Given the description of an element on the screen output the (x, y) to click on. 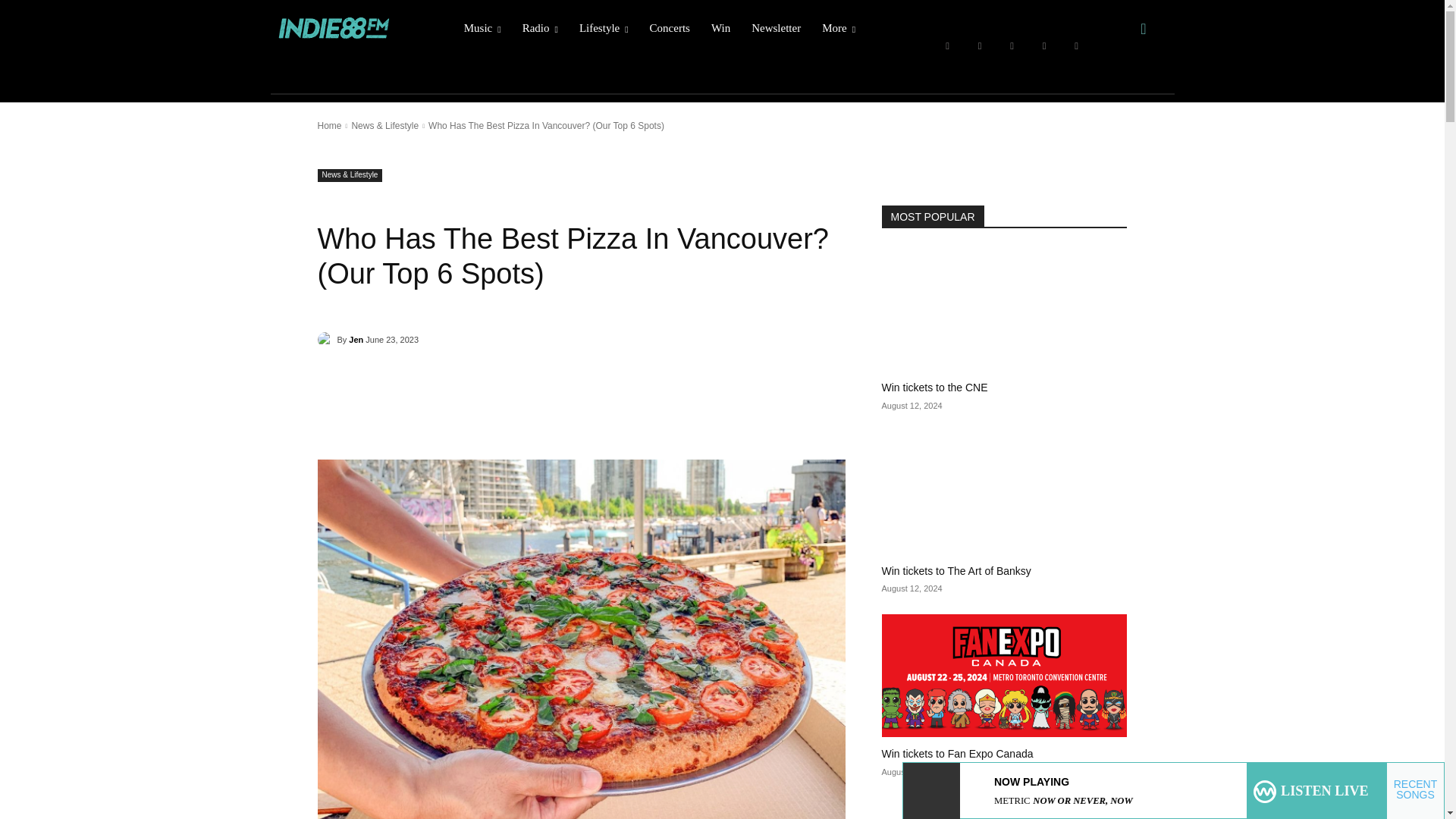
Instagram (980, 46)
Youtube (1076, 46)
Twitter (1044, 46)
Jen (326, 339)
TikTok (1011, 46)
Facebook (946, 46)
